Given the description of an element on the screen output the (x, y) to click on. 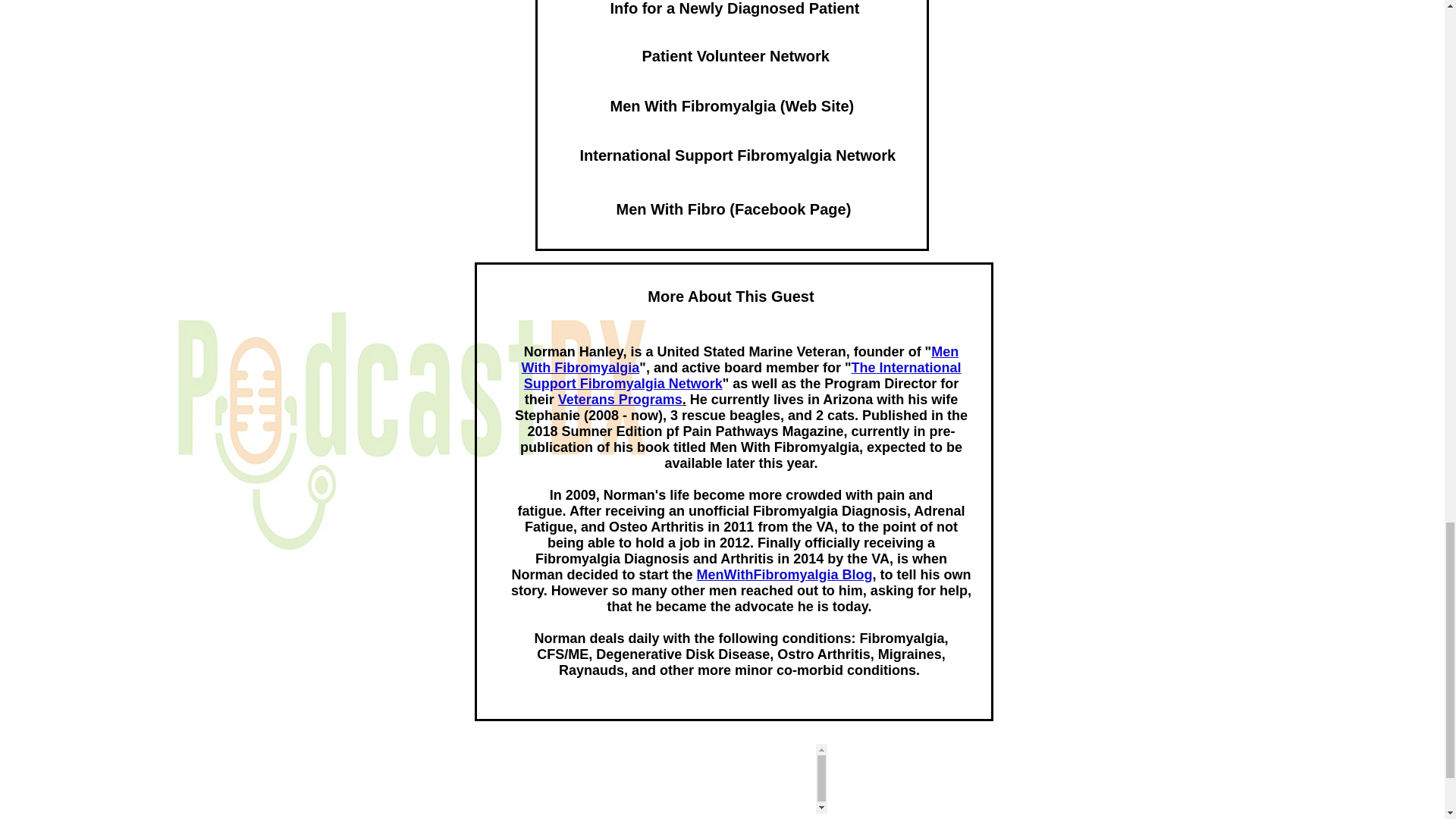
Embedded Content (733, 778)
Patient Volunteer Network (735, 55)
Info for a Newly Diagnosed Patient (734, 11)
Men With Fibromyalgia (739, 359)
International Support Fibromyalgia Network (737, 155)
